Given the description of an element on the screen output the (x, y) to click on. 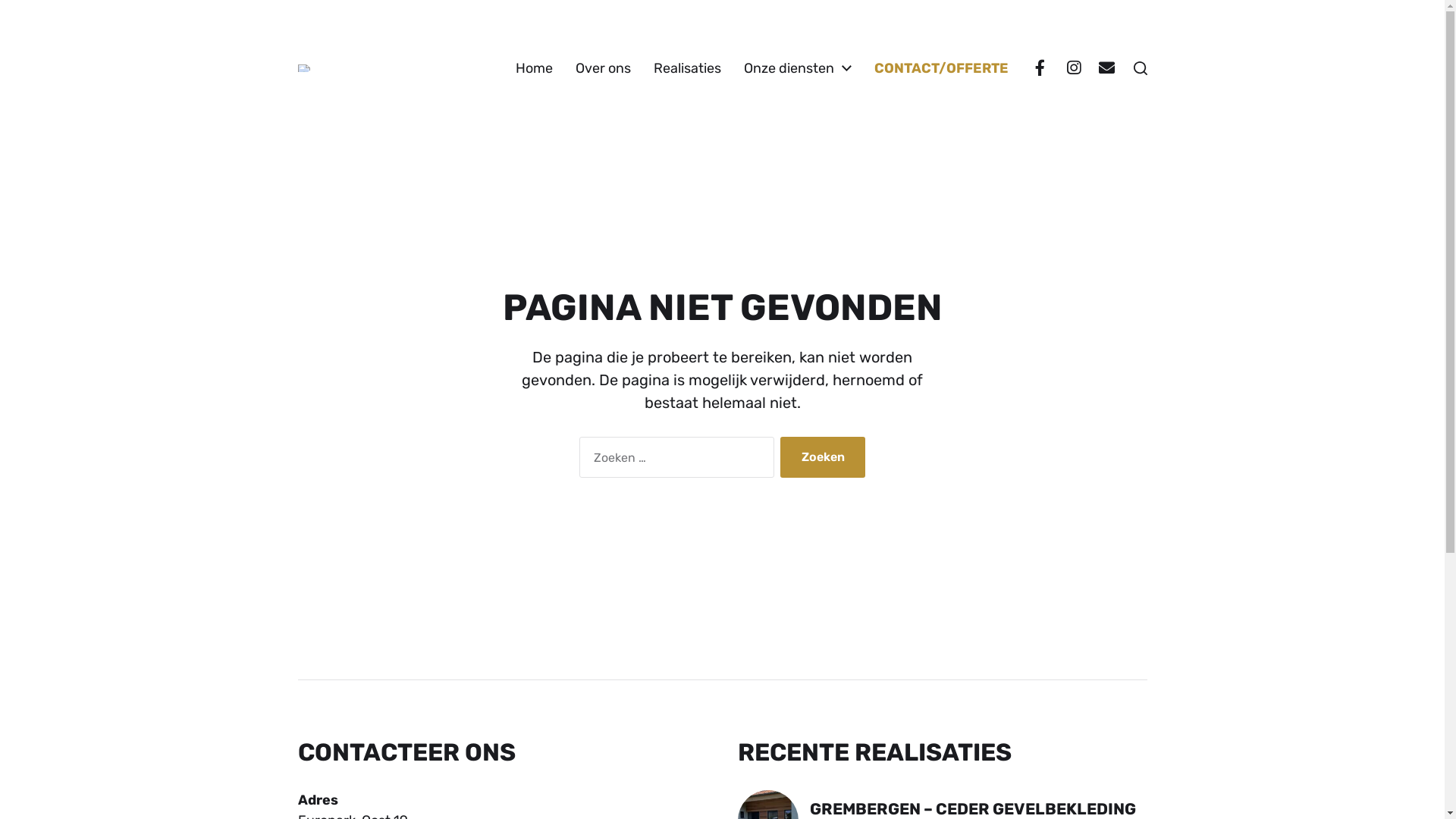
Onze diensten Element type: text (788, 68)
Zoeken Element type: text (823, 456)
Home Element type: text (533, 68)
Realisaties Element type: text (687, 68)
Over ons Element type: text (602, 68)
CONTACT/OFFERTE Element type: text (940, 68)
